Given the description of an element on the screen output the (x, y) to click on. 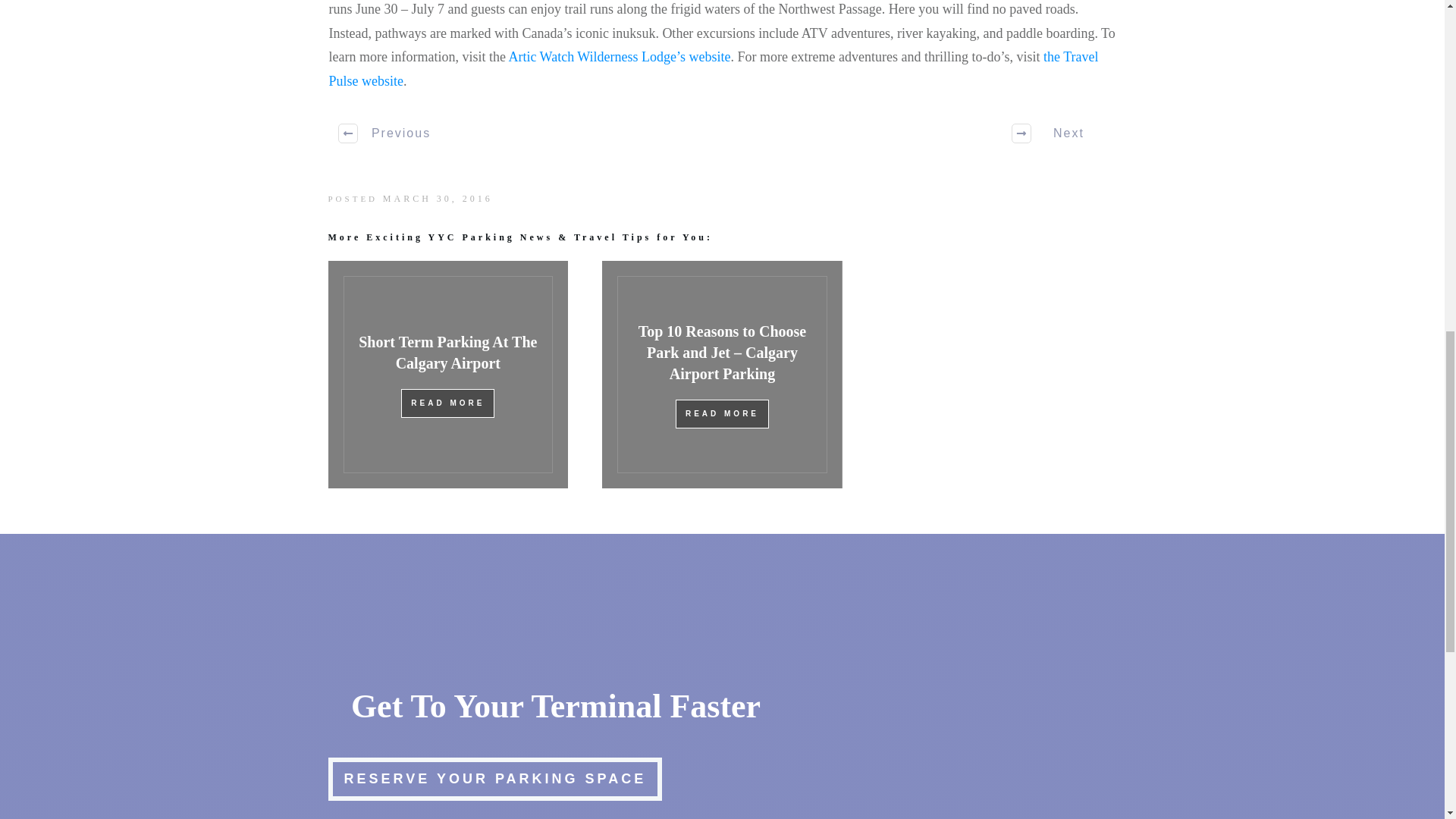
Short Term Parking At The Calgary Airport (447, 352)
the Travel Pulse website (714, 68)
READ MORE (721, 413)
READ MORE (448, 403)
Short Term Parking At The Calgary Airport (447, 352)
Next (1059, 133)
RESERVE YOUR PARKING SPACE (494, 778)
Previous (385, 133)
